Given the description of an element on the screen output the (x, y) to click on. 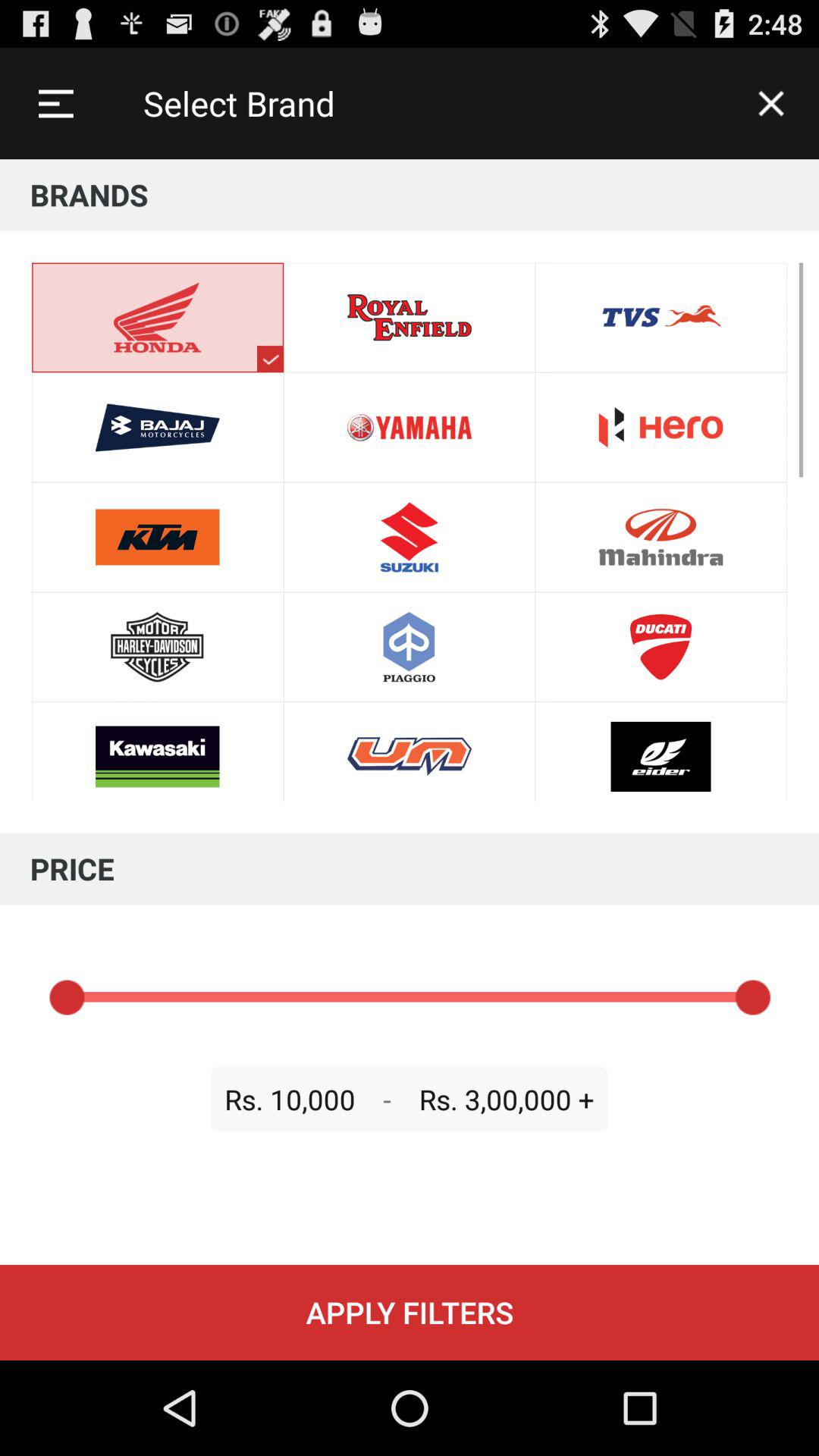
turn on icon to the left of select brand icon (55, 103)
